Given the description of an element on the screen output the (x, y) to click on. 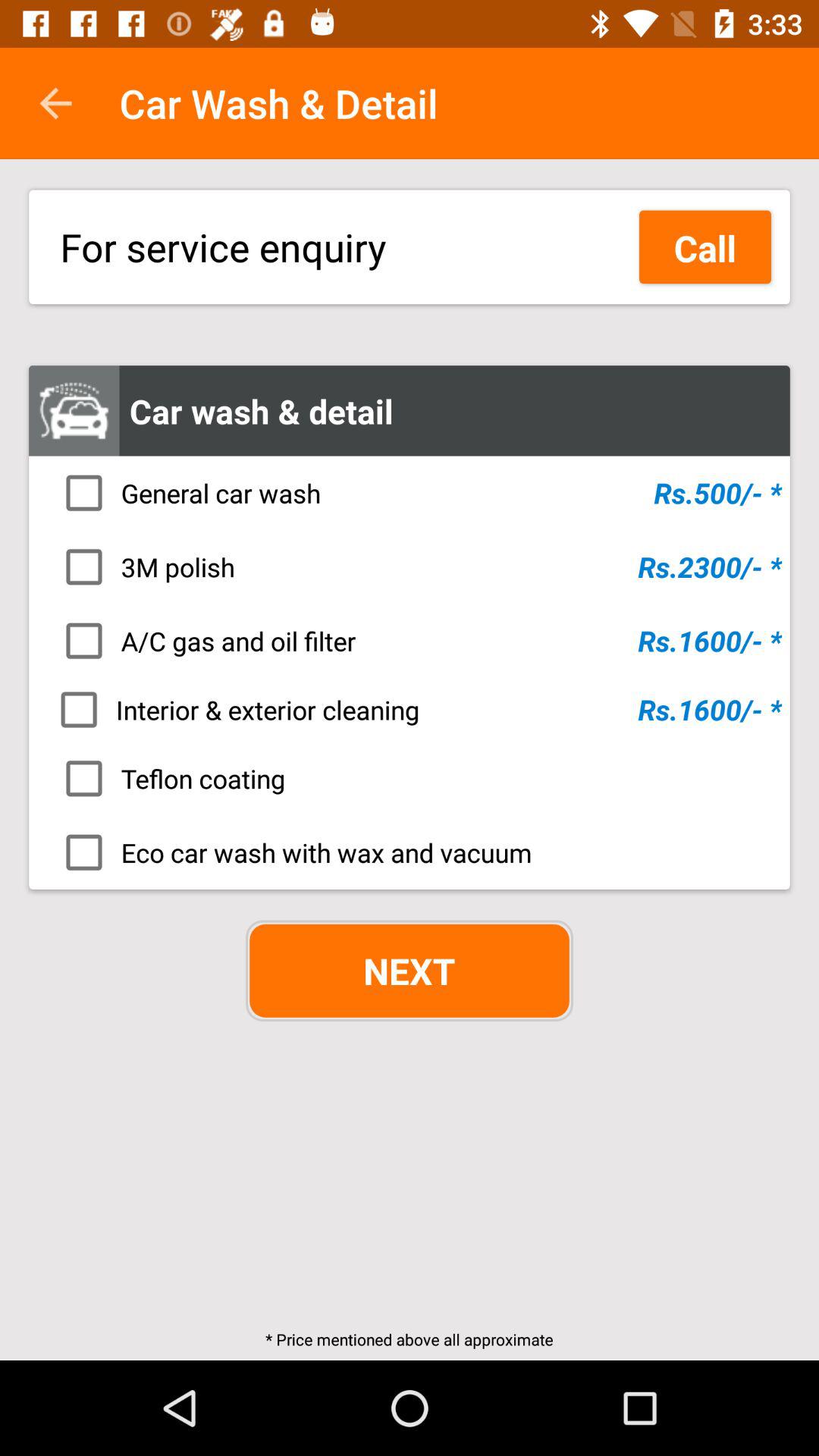
turn off the icon above the interior & exterior cleaning (414, 640)
